Given the description of an element on the screen output the (x, y) to click on. 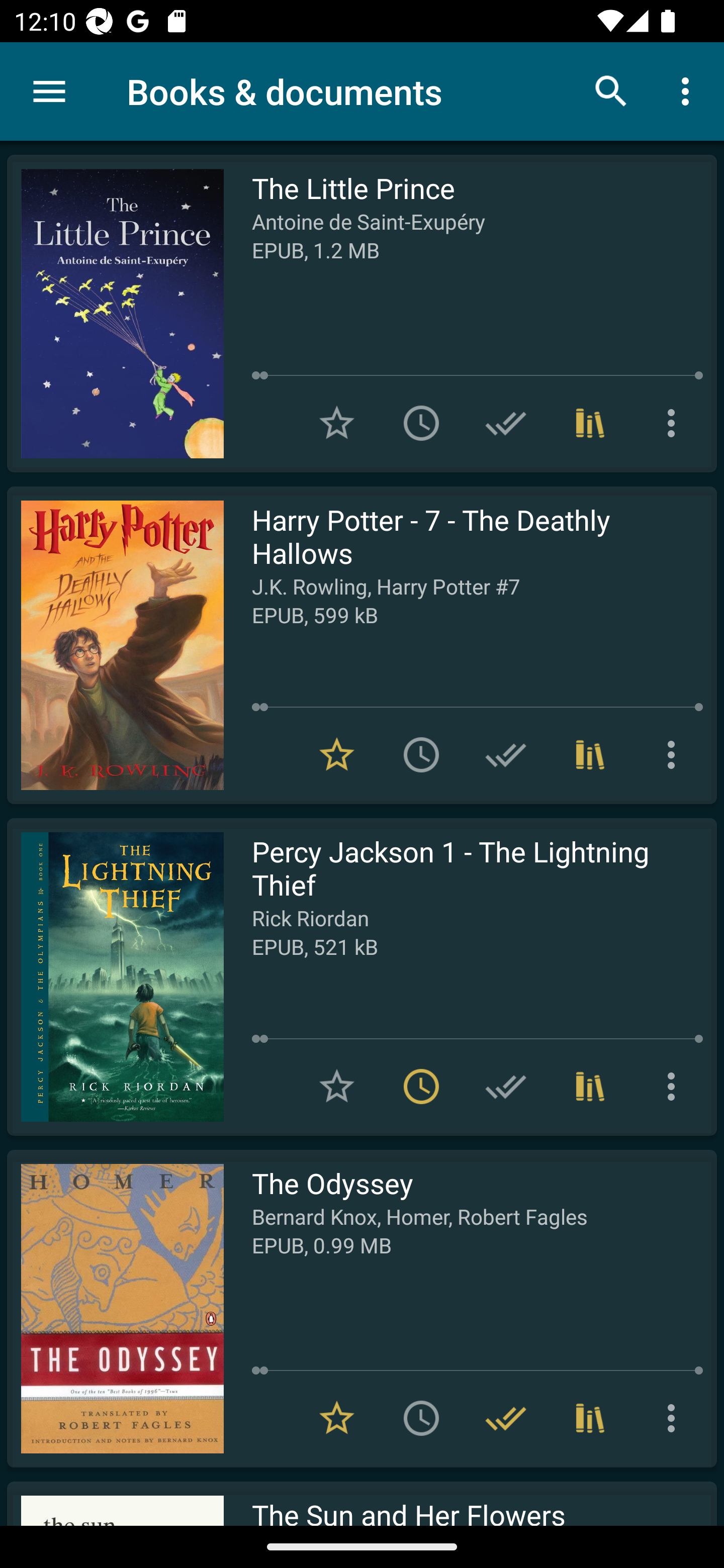
Menu (49, 91)
Search books & documents (611, 90)
More options (688, 90)
Read The Little Prince (115, 313)
Add to Favorites (336, 423)
Add to To read (421, 423)
Add to Have read (505, 423)
Collections (1) (590, 423)
More options (674, 423)
Read Harry Potter - 7 - The Deathly Hallows (115, 645)
Remove from Favorites (336, 753)
Add to To read (421, 753)
Add to Have read (505, 753)
Collections (1) (590, 753)
More options (674, 753)
Read Percy Jackson 1 - The Lightning Thief (115, 976)
Add to Favorites (336, 1086)
Remove from To read (421, 1086)
Add to Have read (505, 1086)
Collections (1) (590, 1086)
More options (674, 1086)
Read The Odyssey (115, 1308)
Remove from Favorites (336, 1417)
Add to To read (421, 1417)
Remove from Have read (505, 1417)
Collections (2) (590, 1417)
More options (674, 1417)
